Given the description of an element on the screen output the (x, y) to click on. 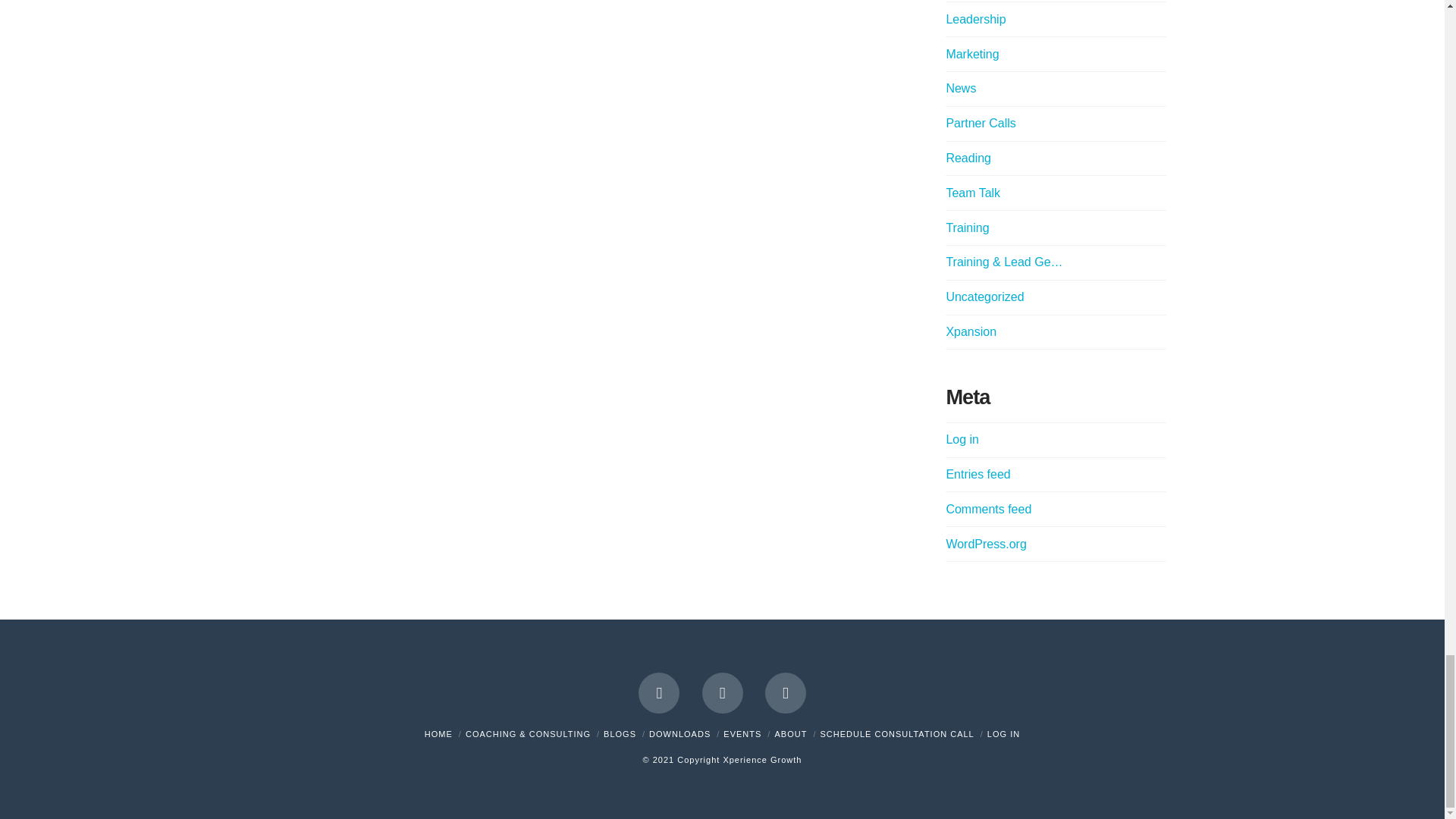
Instagram (785, 692)
Facebook (659, 692)
